Given the description of an element on the screen output the (x, y) to click on. 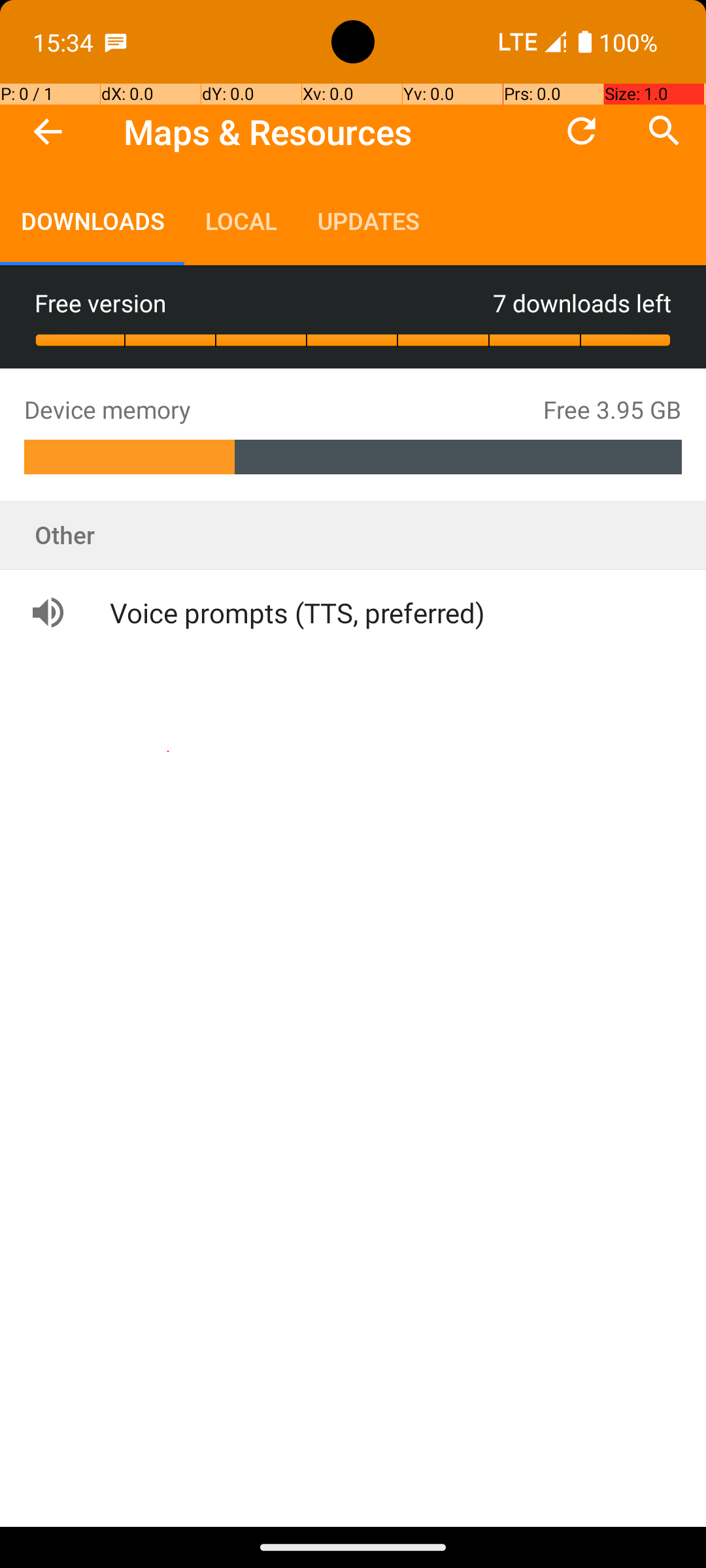
Maps & Resources Element type: android.widget.TextView (267, 131)
Refresh Element type: android.widget.Button (580, 131)
DOWNLOADS Element type: android.widget.TextView (92, 220)
LOCAL Element type: android.widget.TextView (240, 220)
UPDATES Element type: android.widget.TextView (367, 220)
Device memory Element type: android.widget.TextView (283, 408)
Free 3.95 GB Element type: android.widget.TextView (612, 408)
Free version Element type: android.widget.TextView (263, 302)
7 downloads left Element type: android.widget.TextView (581, 302)
Voice prompts (TTS, preferred) Element type: android.widget.TextView (256, 612)
